Given the description of an element on the screen output the (x, y) to click on. 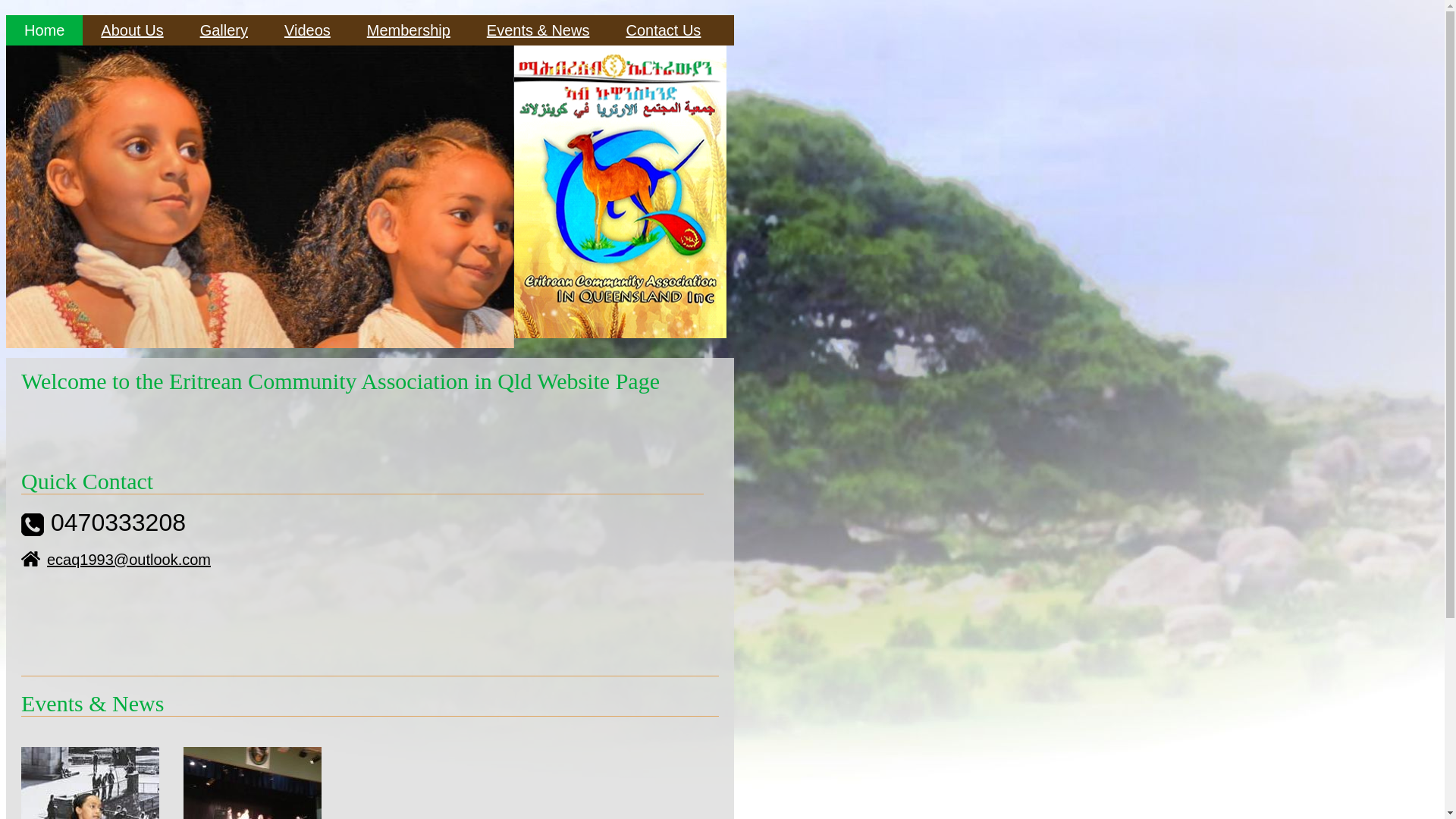
Skip to main content Element type: text (6, 15)
Contact Us Element type: text (662, 30)
About Us Element type: text (131, 30)
Home Element type: text (44, 30)
Membership Element type: text (408, 30)
Videos Element type: text (307, 30)
ecaq1993@outlook.com Element type: text (115, 559)
Gallery Element type: text (224, 30)
Events & News Element type: text (538, 30)
Home Element type: hover (620, 333)
